Given the description of an element on the screen output the (x, y) to click on. 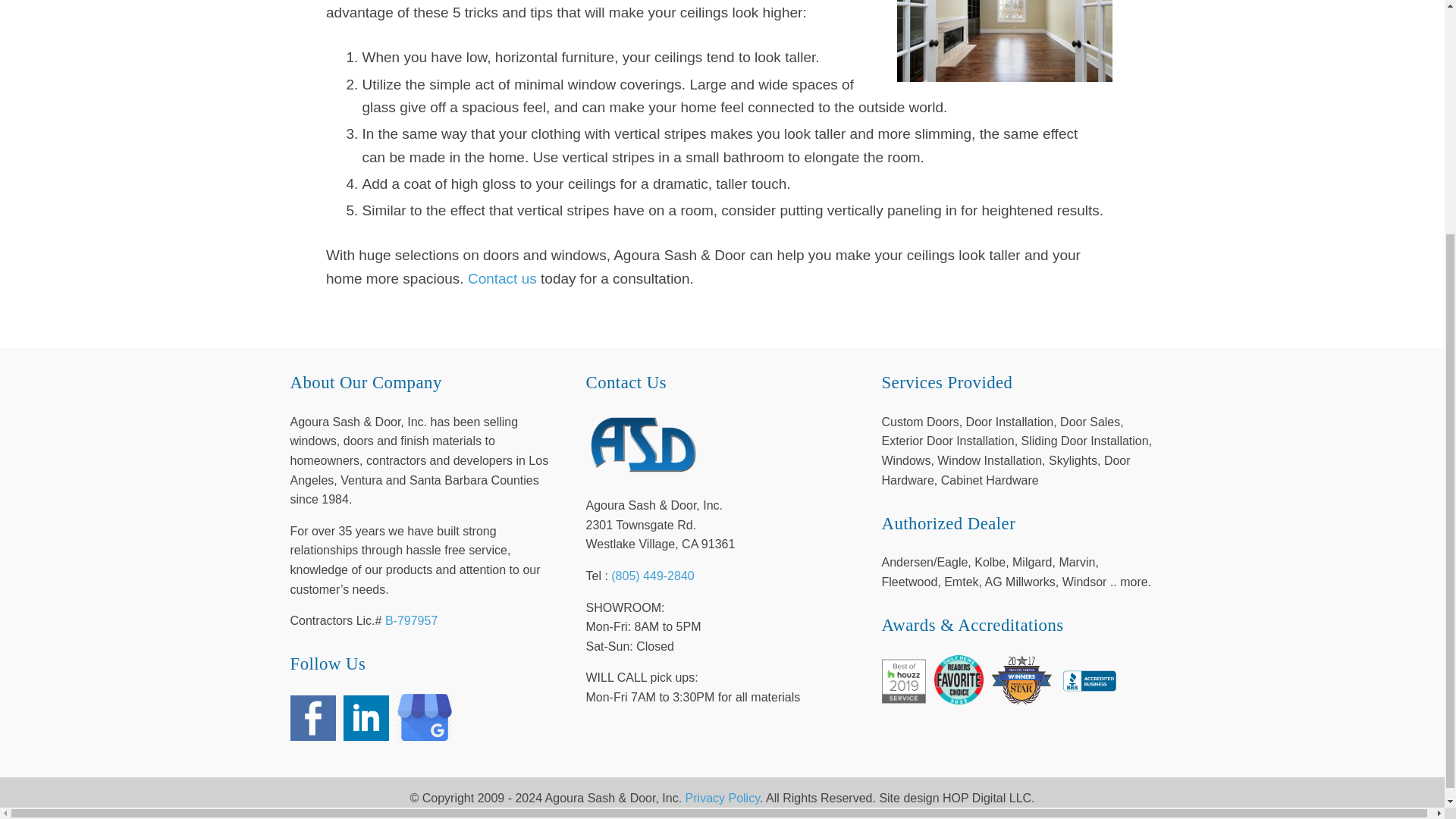
Contact us  (503, 278)
B-797957 (411, 620)
